Given the description of an element on the screen output the (x, y) to click on. 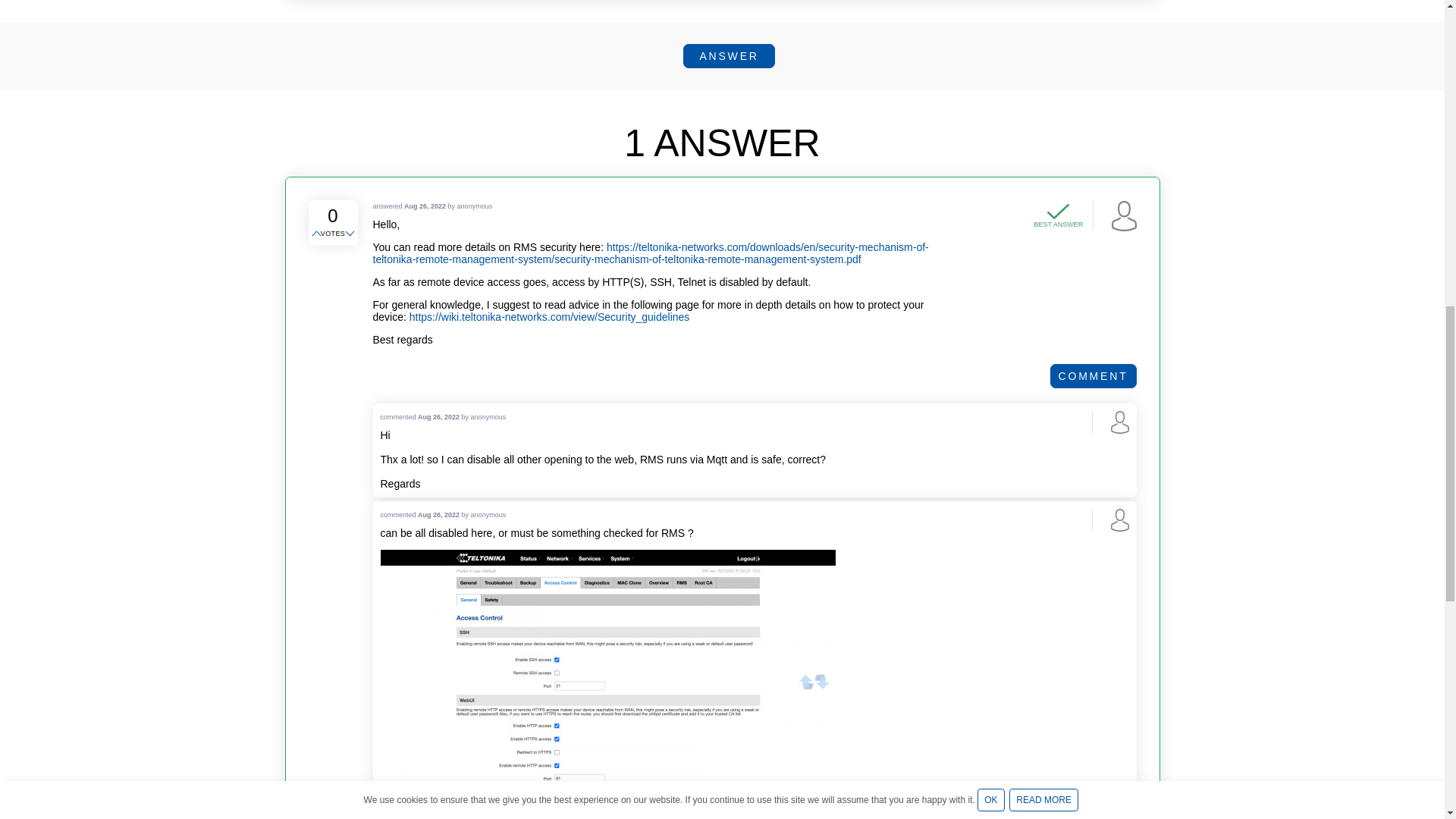
comment (1093, 375)
answer (728, 55)
Add a comment on this answer (1093, 375)
Click to vote down (349, 234)
Click to vote up (317, 234)
Answer this question (728, 55)
